Given the description of an element on the screen output the (x, y) to click on. 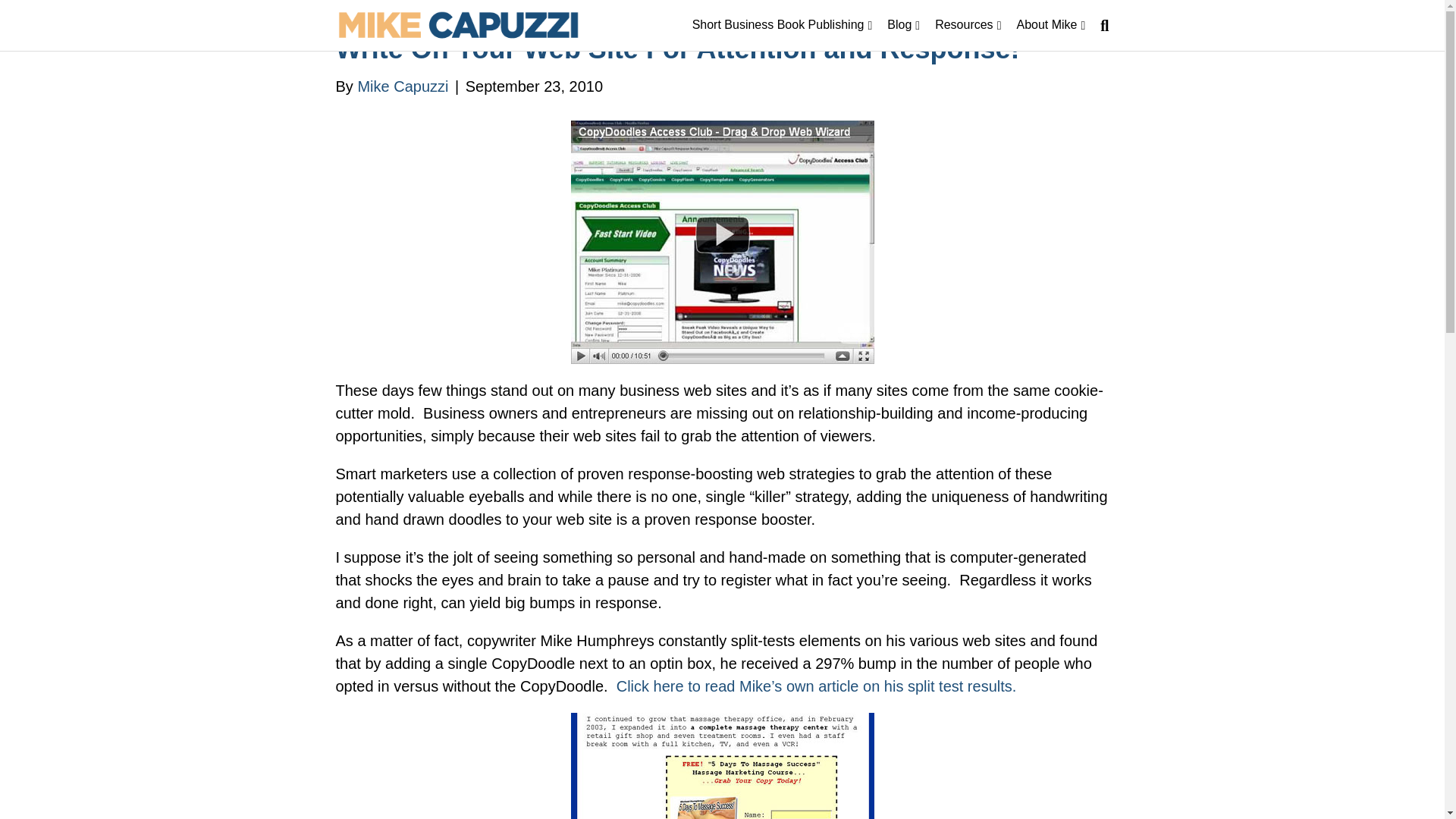
before copydoodles (721, 765)
Blog (903, 24)
Resources (968, 24)
Mike Capuzzi (402, 86)
copydoodles video (721, 241)
Short Business Book Publishing (782, 24)
About Mike (1051, 24)
Article (815, 686)
